Given the description of an element on the screen output the (x, y) to click on. 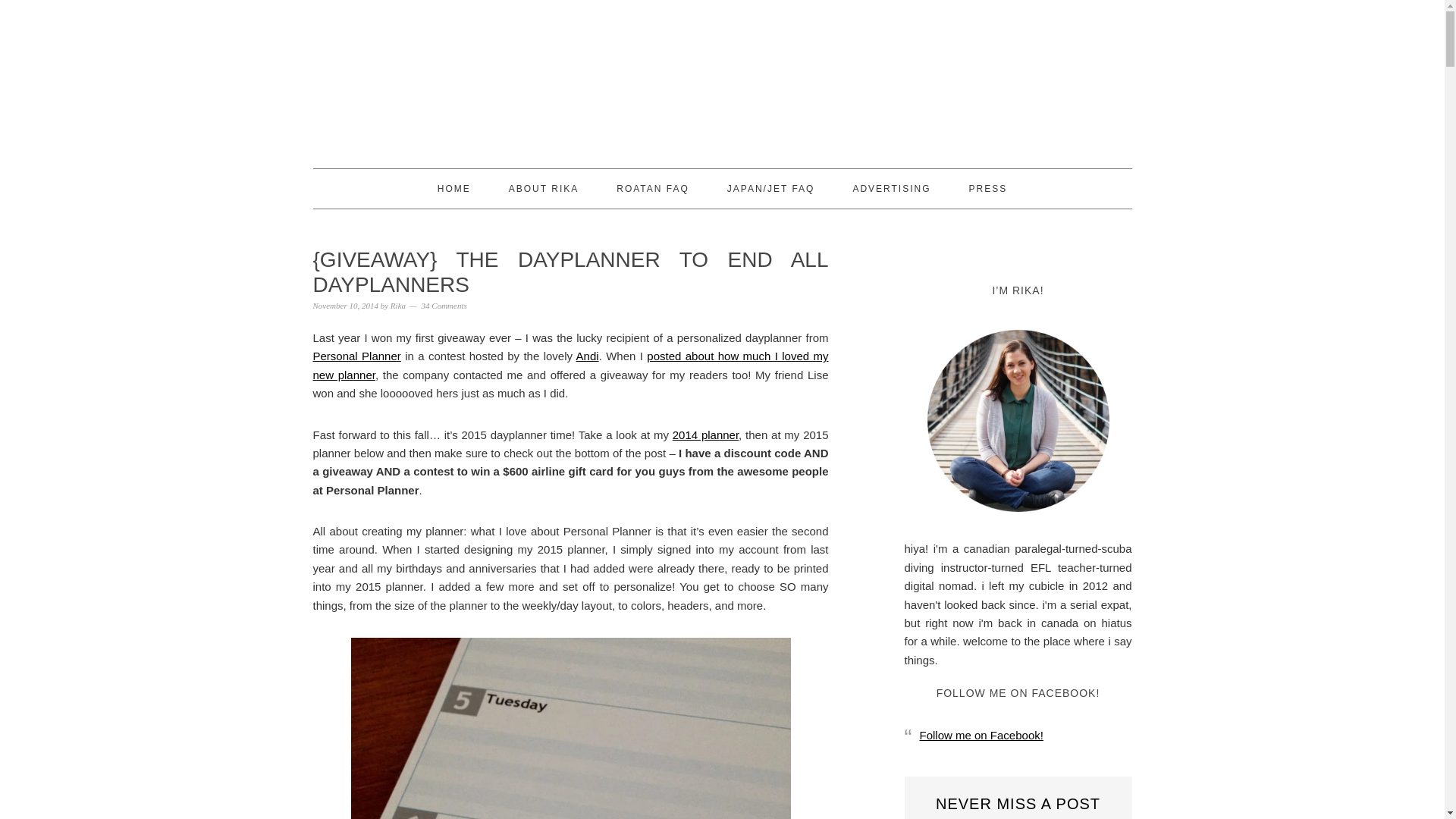
Personal Planner (356, 355)
ROATAN FAQ (651, 188)
HOME (454, 188)
ADVERTISING (890, 188)
34 Comments (444, 305)
Andi (587, 355)
ABOUT RIKA (542, 188)
Rika (398, 305)
PRESS (988, 188)
CUBICLE THROWDOWN (722, 77)
2014 planner (705, 434)
posted about how much I loved my new planner (570, 364)
